Given the description of an element on the screen output the (x, y) to click on. 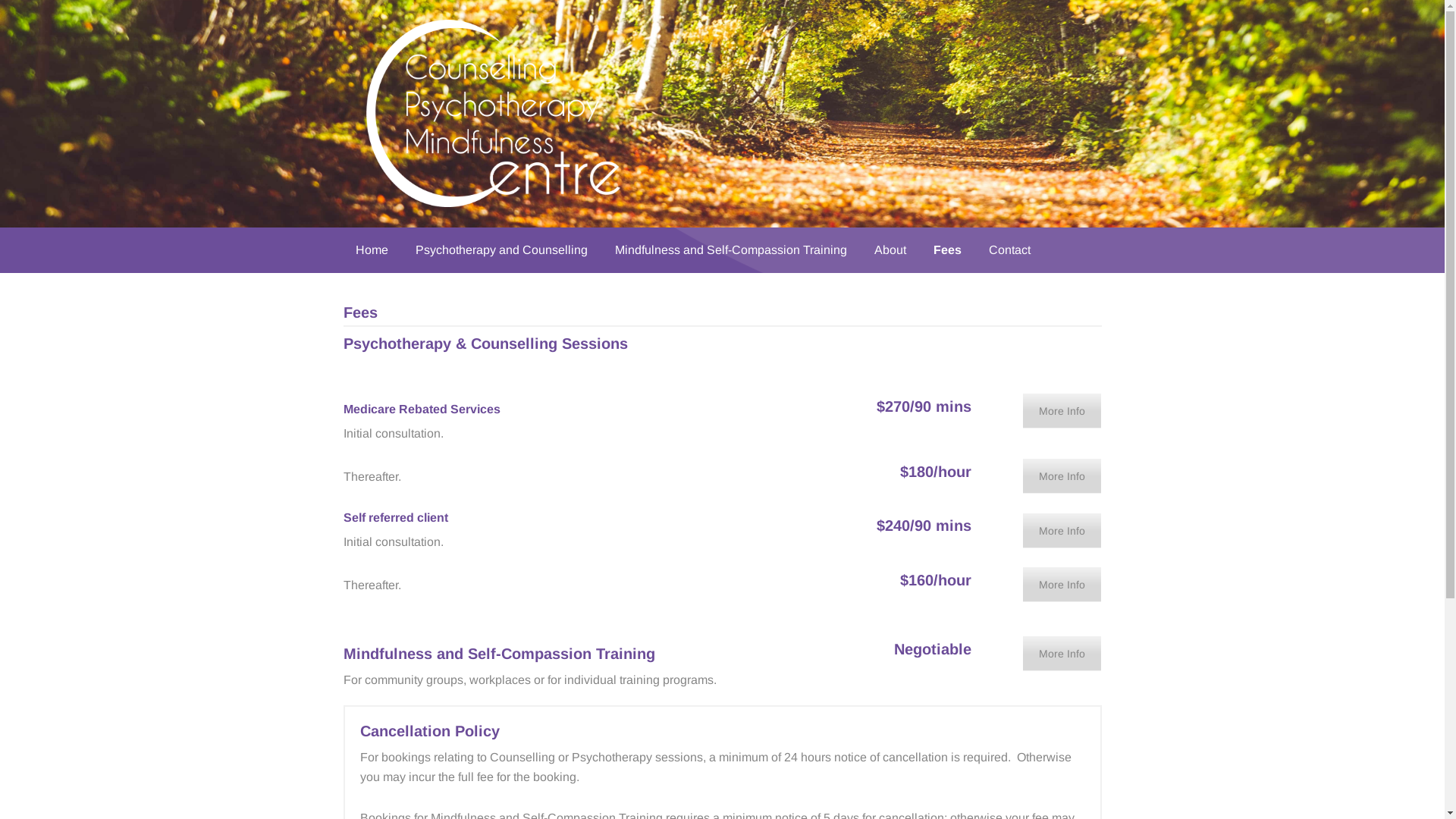
More Info Element type: text (1061, 475)
Skip to primary navigation Element type: text (0, 0)
More Info Element type: text (1061, 653)
Contact Element type: text (1009, 250)
More Info Element type: text (1061, 410)
More Info Element type: text (1061, 530)
Psychotherapy and Counselling Element type: text (501, 250)
More Info Element type: text (1061, 584)
About Element type: text (889, 250)
Home Element type: text (370, 250)
Fees Element type: text (946, 250)
Mindfulness and Self-Compassion Training Element type: text (730, 250)
